Given the description of an element on the screen output the (x, y) to click on. 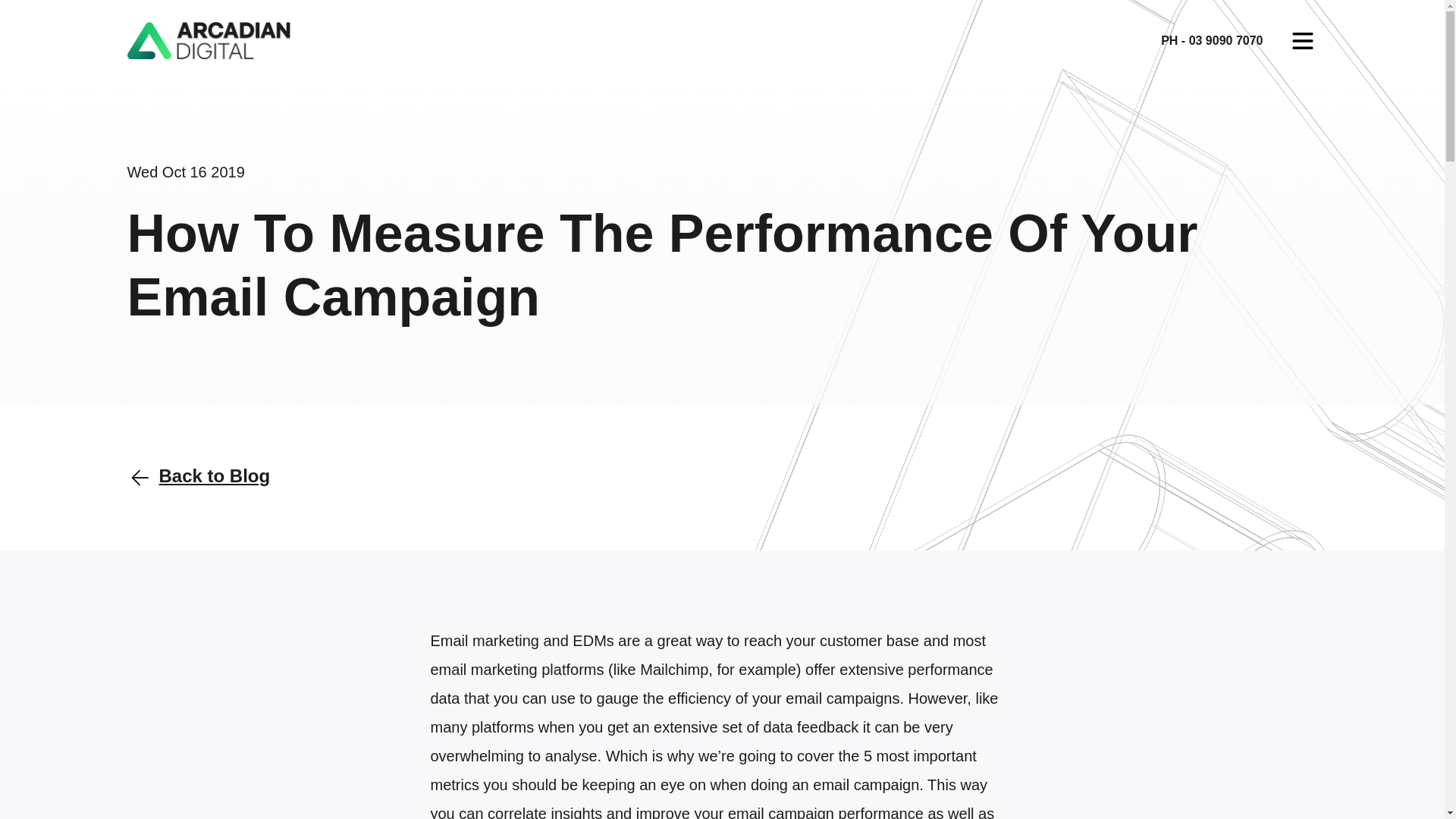
03 9090 7070 (1226, 40)
Back to Blog (199, 477)
